Given the description of an element on the screen output the (x, y) to click on. 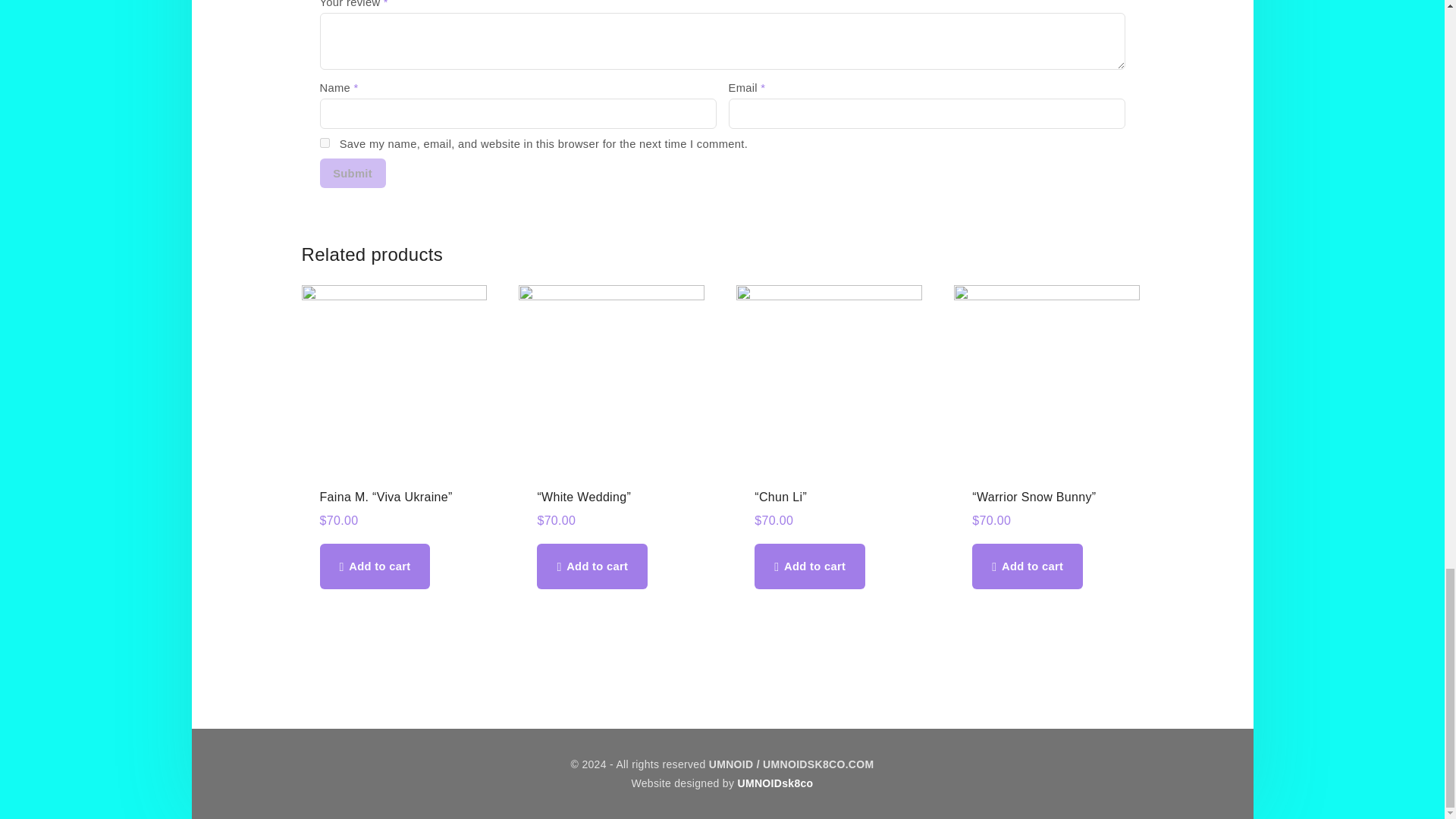
Add to cart (375, 566)
Submit (352, 173)
Submit (352, 173)
yes (325, 143)
Add to cart (592, 566)
Add to cart (809, 566)
